Given the description of an element on the screen output the (x, y) to click on. 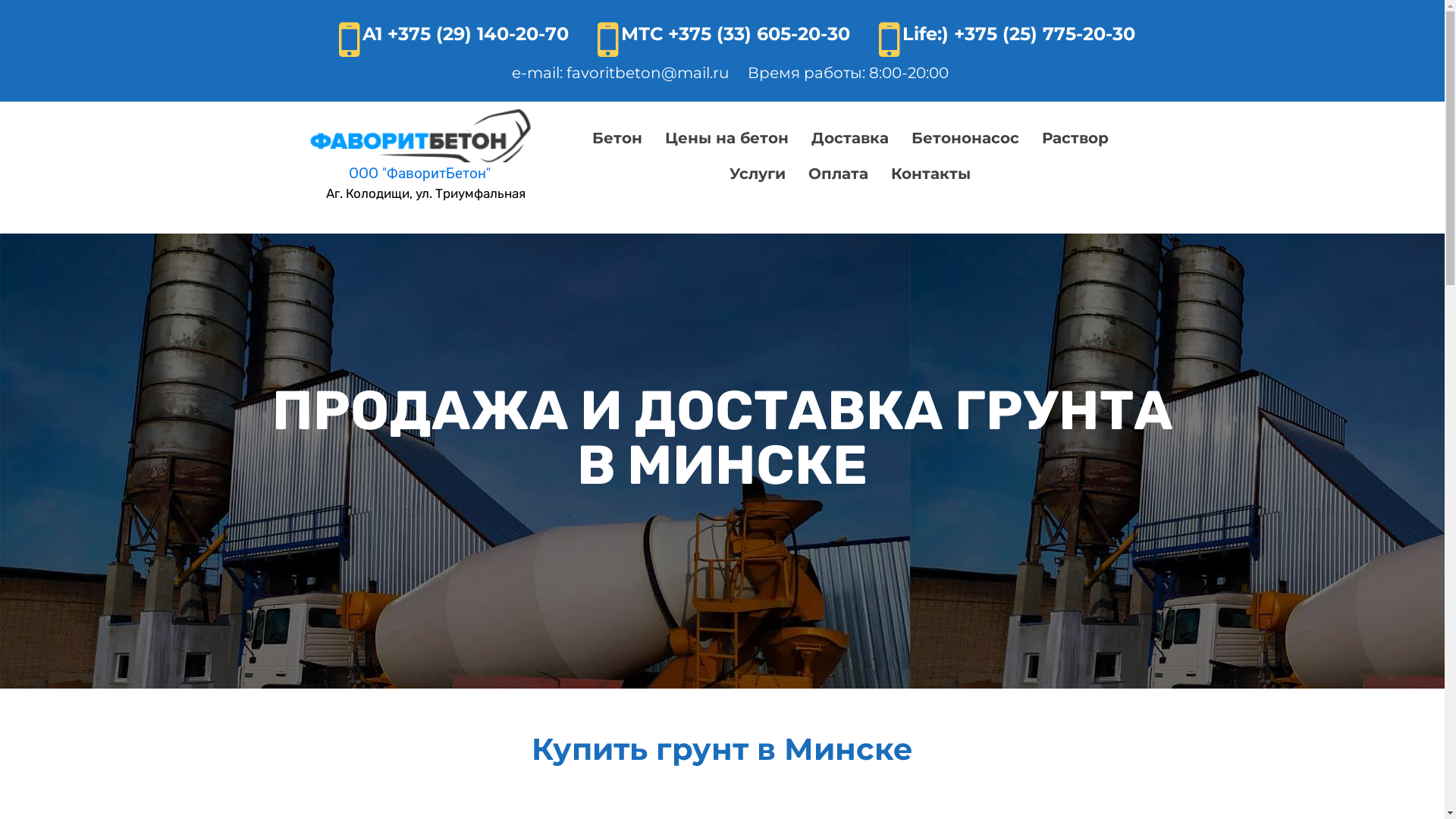
Life:) +375 (25) 775-20-30 Element type: text (1018, 33)
A1 +375 (29) 140-20-70 Element type: text (465, 33)
